Given the description of an element on the screen output the (x, y) to click on. 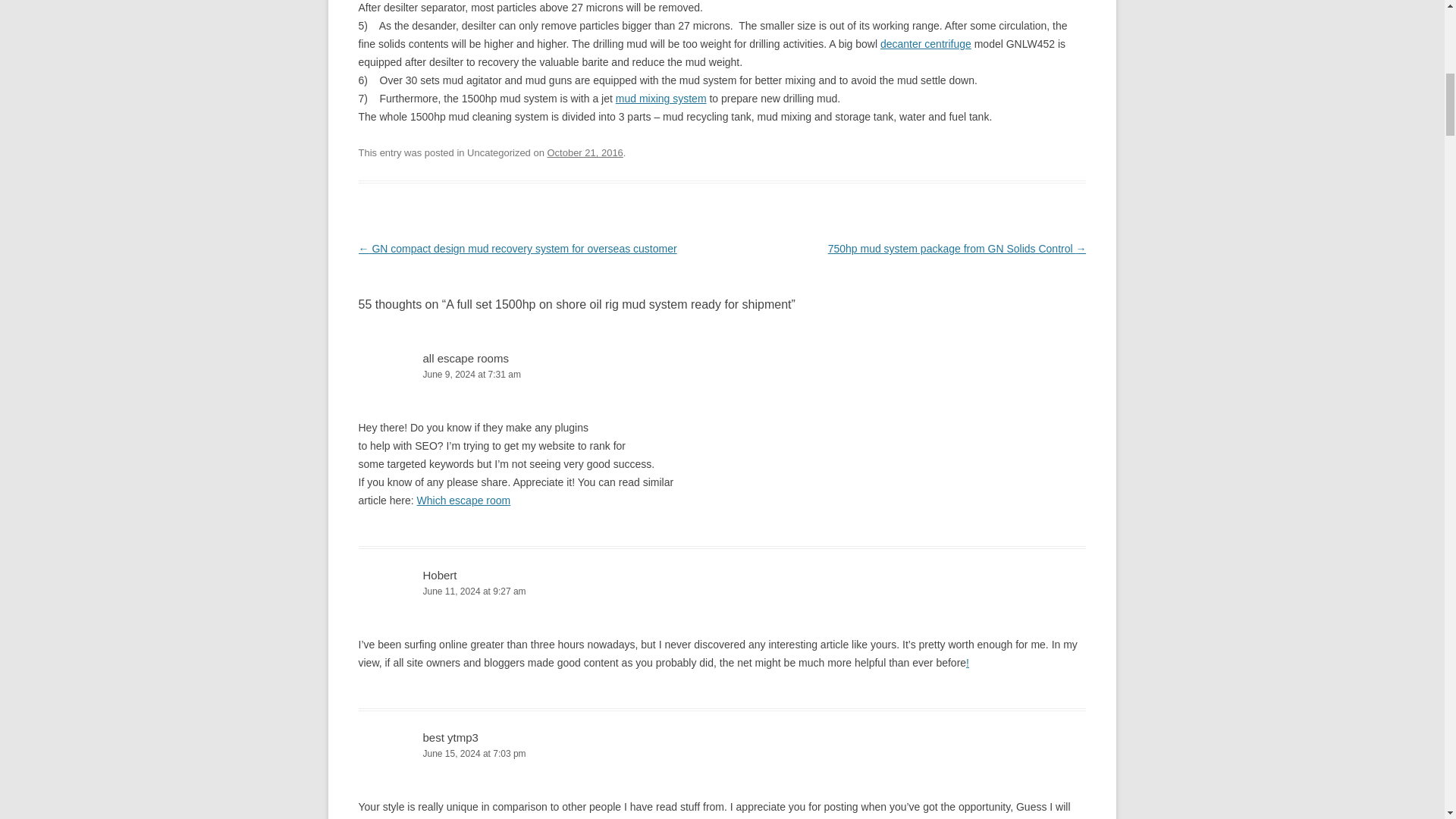
10:00 am (585, 152)
mud mixing system (660, 98)
Which escape room (463, 500)
all escape rooms (465, 358)
Hobert (440, 574)
June 15, 2024 at 7:03 pm (722, 754)
June 11, 2024 at 9:27 am (722, 591)
June 9, 2024 at 7:31 am (722, 374)
decanter centrifuge (925, 43)
October 21, 2016 (585, 152)
best ytmp3 (451, 737)
